Given the description of an element on the screen output the (x, y) to click on. 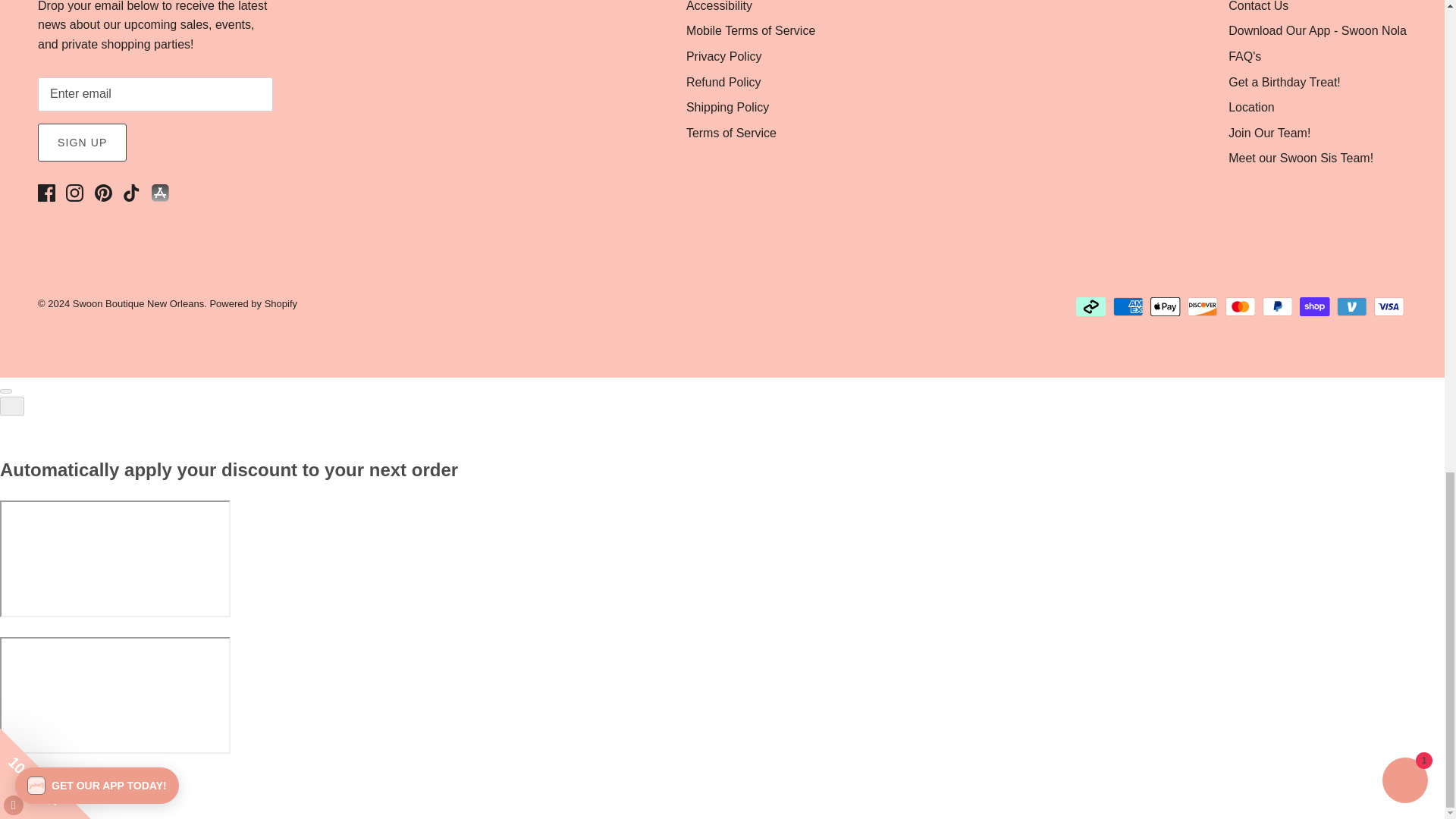
Facebook (46, 192)
Discover (1202, 306)
Apple Pay (1165, 306)
Instagram (73, 192)
American Express (1127, 306)
Afterpay (1090, 306)
Pinterest (103, 192)
